Given the description of an element on the screen output the (x, y) to click on. 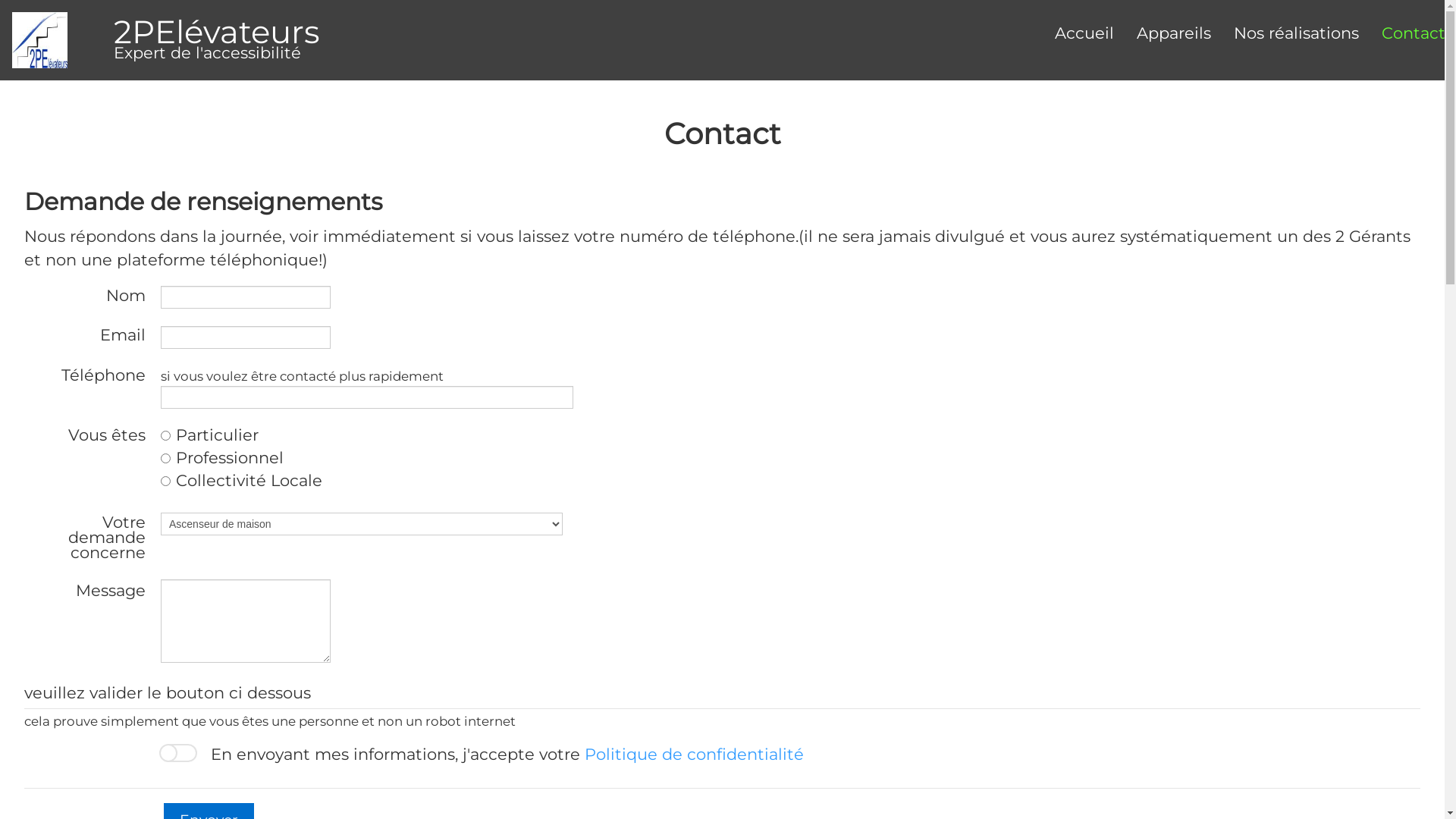
Champ Email doit contenir une adresse email valide ! Element type: hover (245, 337)
Accueil Element type: text (1084, 33)
Appareils Element type: text (1173, 33)
